Given the description of an element on the screen output the (x, y) to click on. 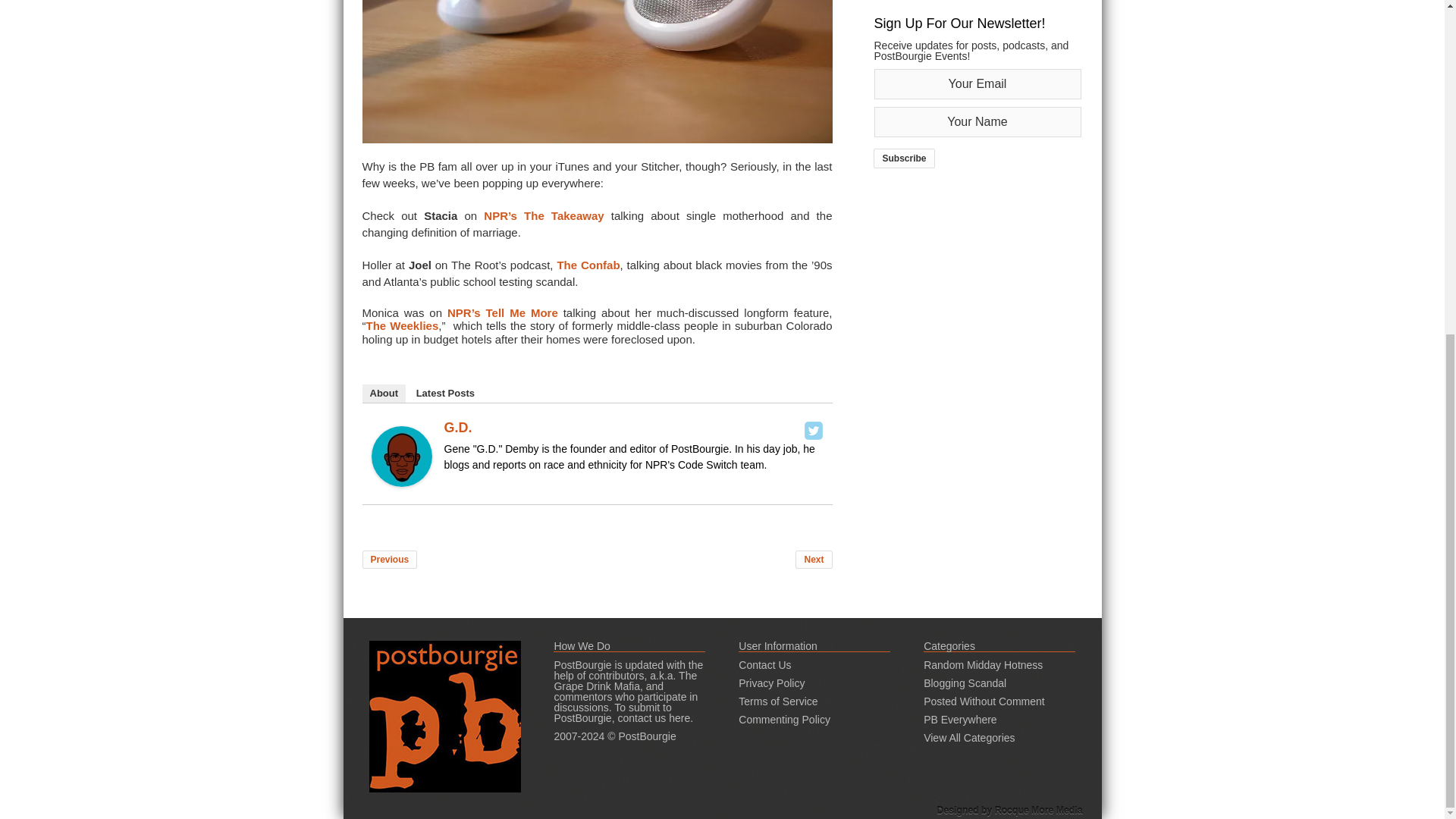
G.D. (401, 481)
The Confab (588, 264)
Subscribe (903, 158)
About (384, 393)
The Weeklies (401, 325)
Twitter (812, 430)
Latest Posts (445, 393)
